Given the description of an element on the screen output the (x, y) to click on. 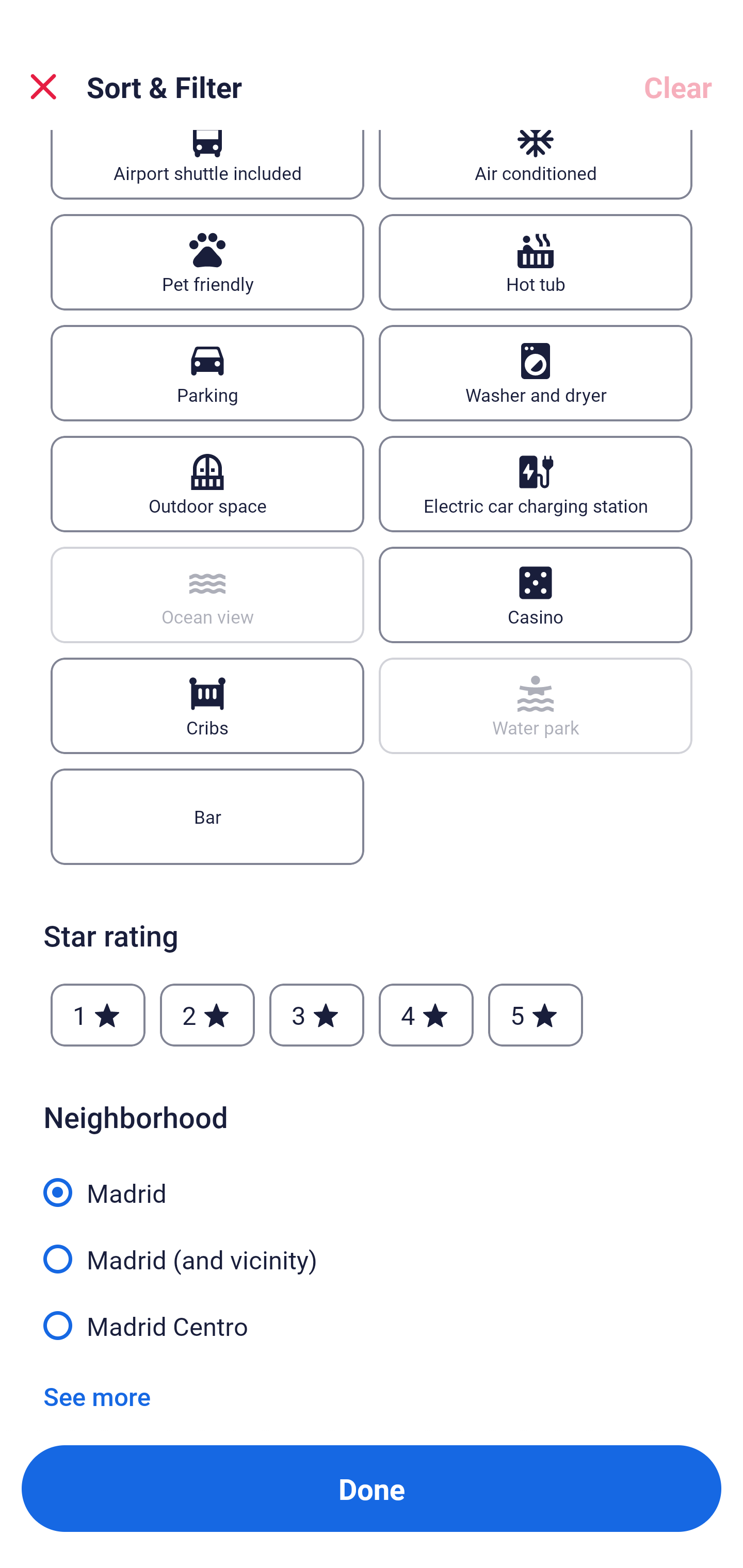
Close Sort and Filter (43, 86)
Clear (677, 86)
Airport shuttle included (207, 164)
Air conditioned (535, 164)
Pet friendly (207, 262)
Hot tub (535, 262)
Parking (207, 372)
Washer and dryer (535, 372)
Outdoor space (207, 483)
Electric car charging station (535, 483)
Ocean view (207, 594)
Casino (535, 594)
Cribs (207, 705)
Water park (535, 705)
Bar (207, 816)
1 (97, 1015)
2 (206, 1015)
3 (316, 1015)
4 (426, 1015)
5 (535, 1015)
Madrid (and vicinity) (371, 1248)
Madrid Centro (371, 1324)
See more See more neighborhoods Link (96, 1396)
Apply and close Sort and Filter Done (371, 1488)
